Given the description of an element on the screen output the (x, y) to click on. 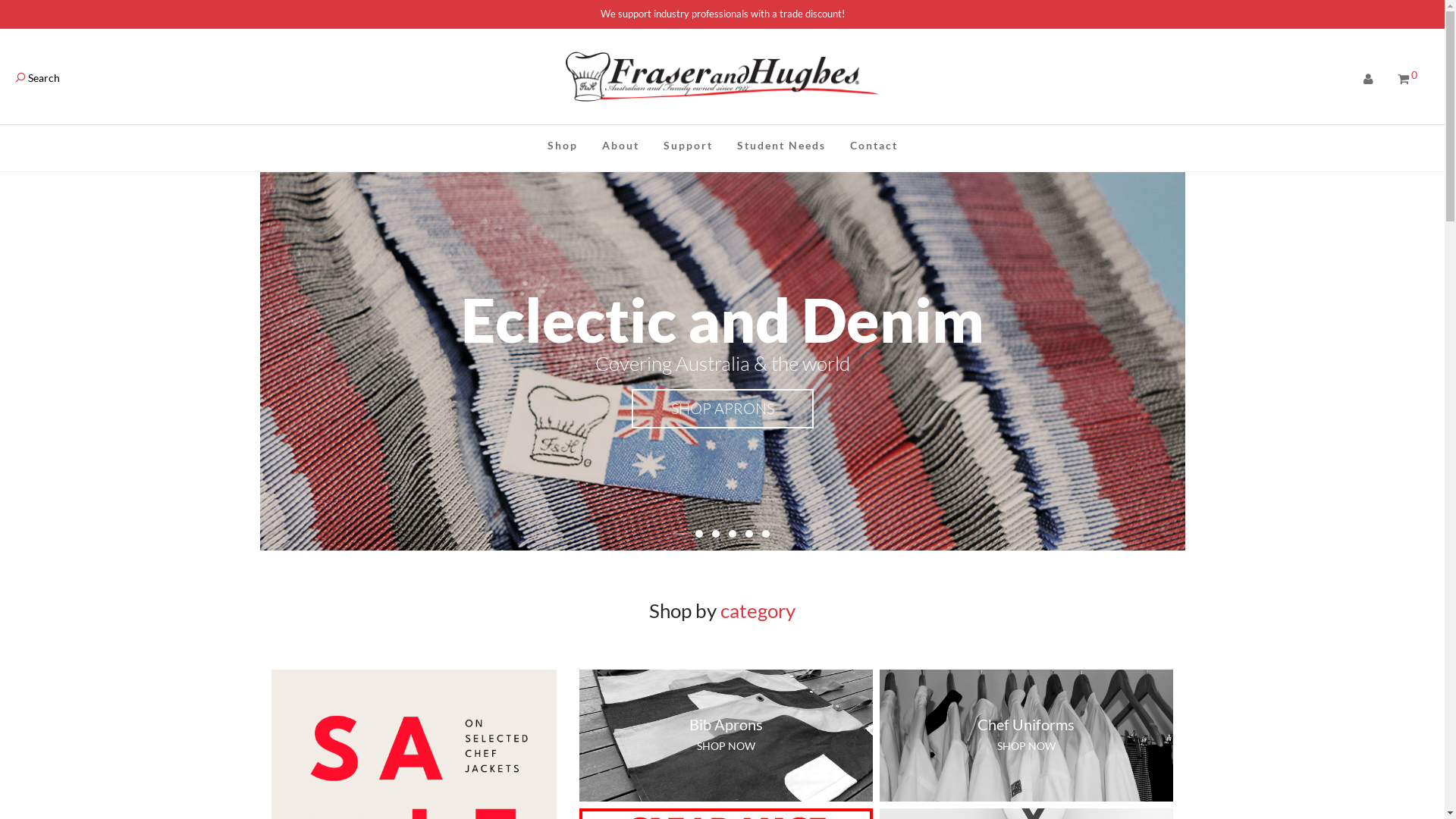
5 Element type: text (748, 533)
SHOP APRONS Element type: text (721, 408)
0 Element type: text (1407, 78)
Chef Uniforms Element type: text (1025, 724)
4 Element type: text (731, 533)
Contact Element type: text (873, 144)
3 Element type: text (714, 533)
1 Element type: text (679, 533)
Search Element type: text (37, 77)
2 Element type: text (698, 533)
Student Needs Element type: text (780, 144)
Bib Aprons Element type: text (725, 724)
Support Element type: text (687, 144)
Shop Element type: text (562, 144)
About Element type: text (620, 144)
6 Element type: text (764, 533)
